Given the description of an element on the screen output the (x, y) to click on. 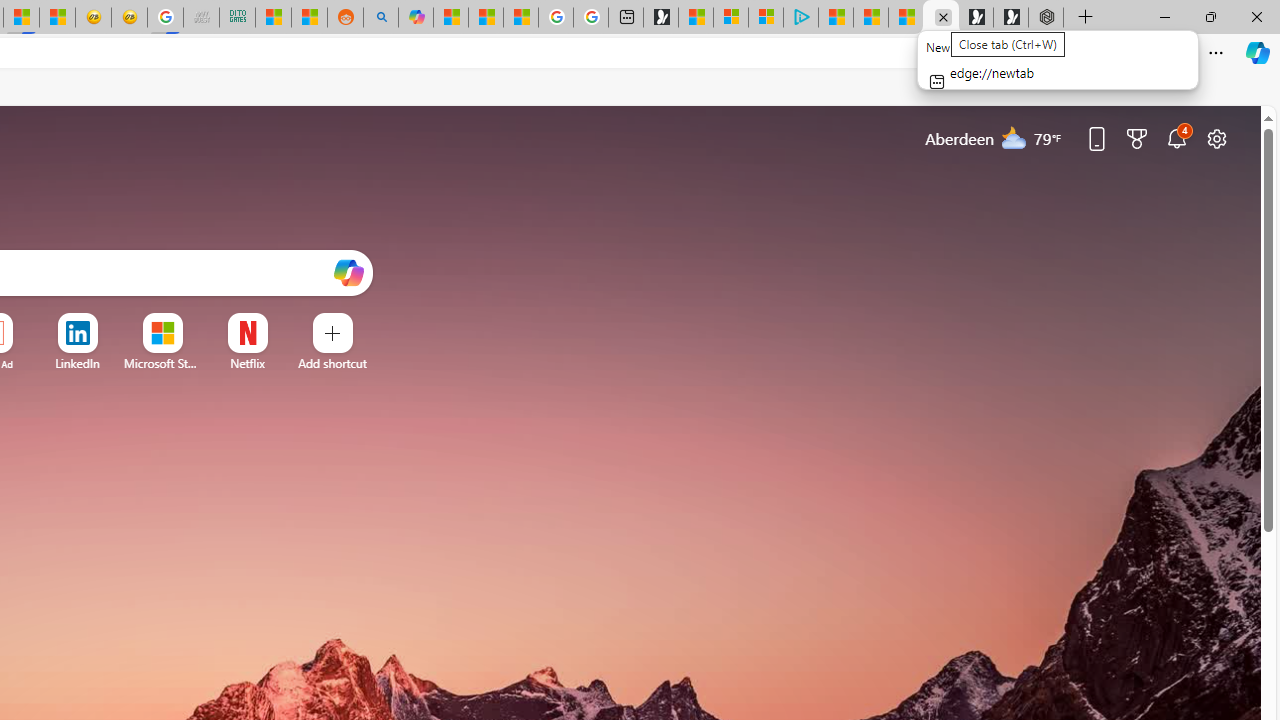
Netflix (247, 363)
Utah sues federal government - Search (380, 17)
Add a site (332, 363)
